Given the description of an element on the screen output the (x, y) to click on. 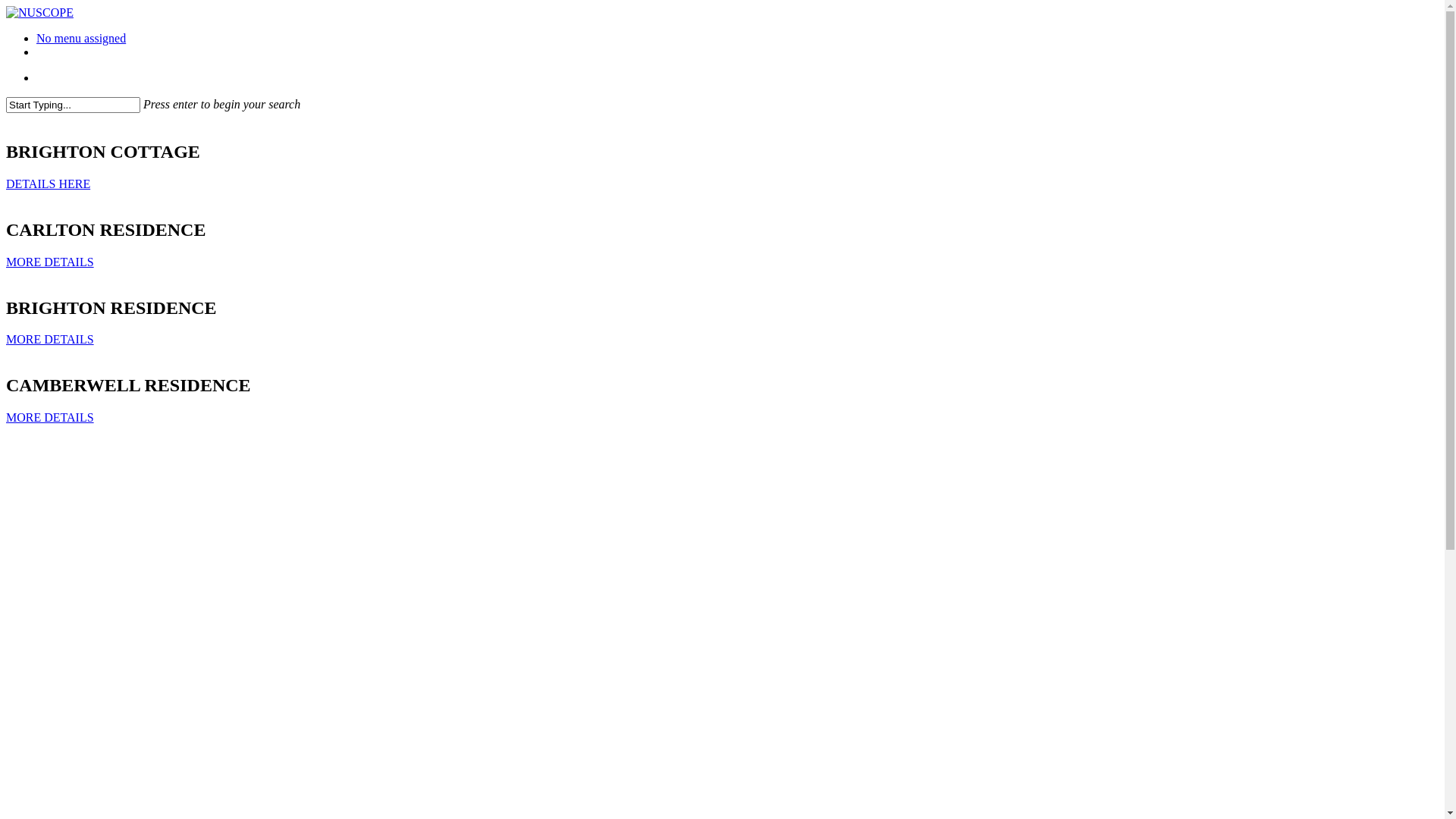
MORE DETAILS Element type: text (50, 417)
MORE DETAILS Element type: text (50, 338)
MORE DETAILS Element type: text (50, 261)
Skip to main content Element type: text (5, 5)
No menu assigned Element type: text (80, 37)
DETAILS HERE Element type: text (48, 183)
